Given the description of an element on the screen output the (x, y) to click on. 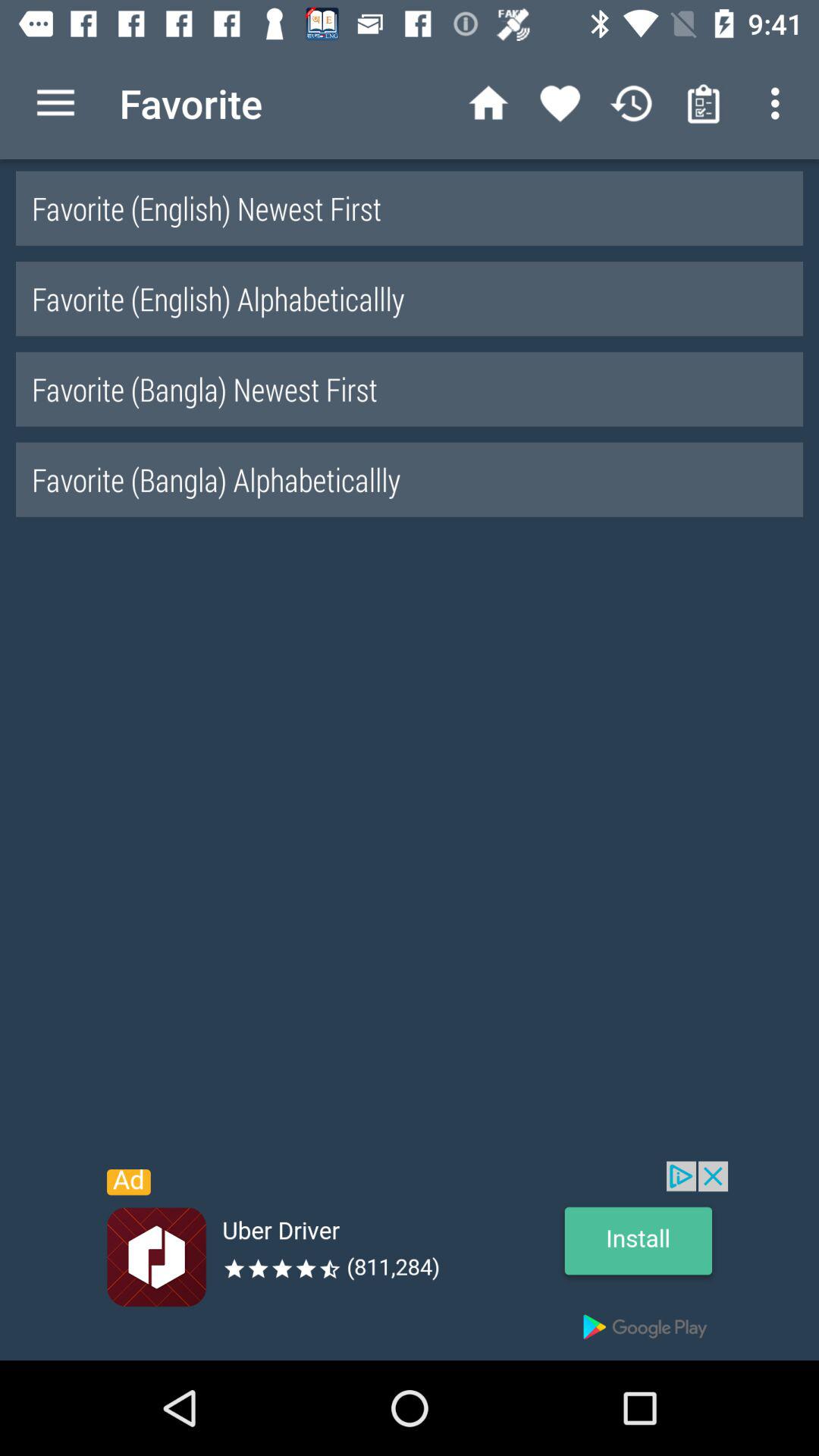
open advertisement in app store (409, 1260)
